Given the description of an element on the screen output the (x, y) to click on. 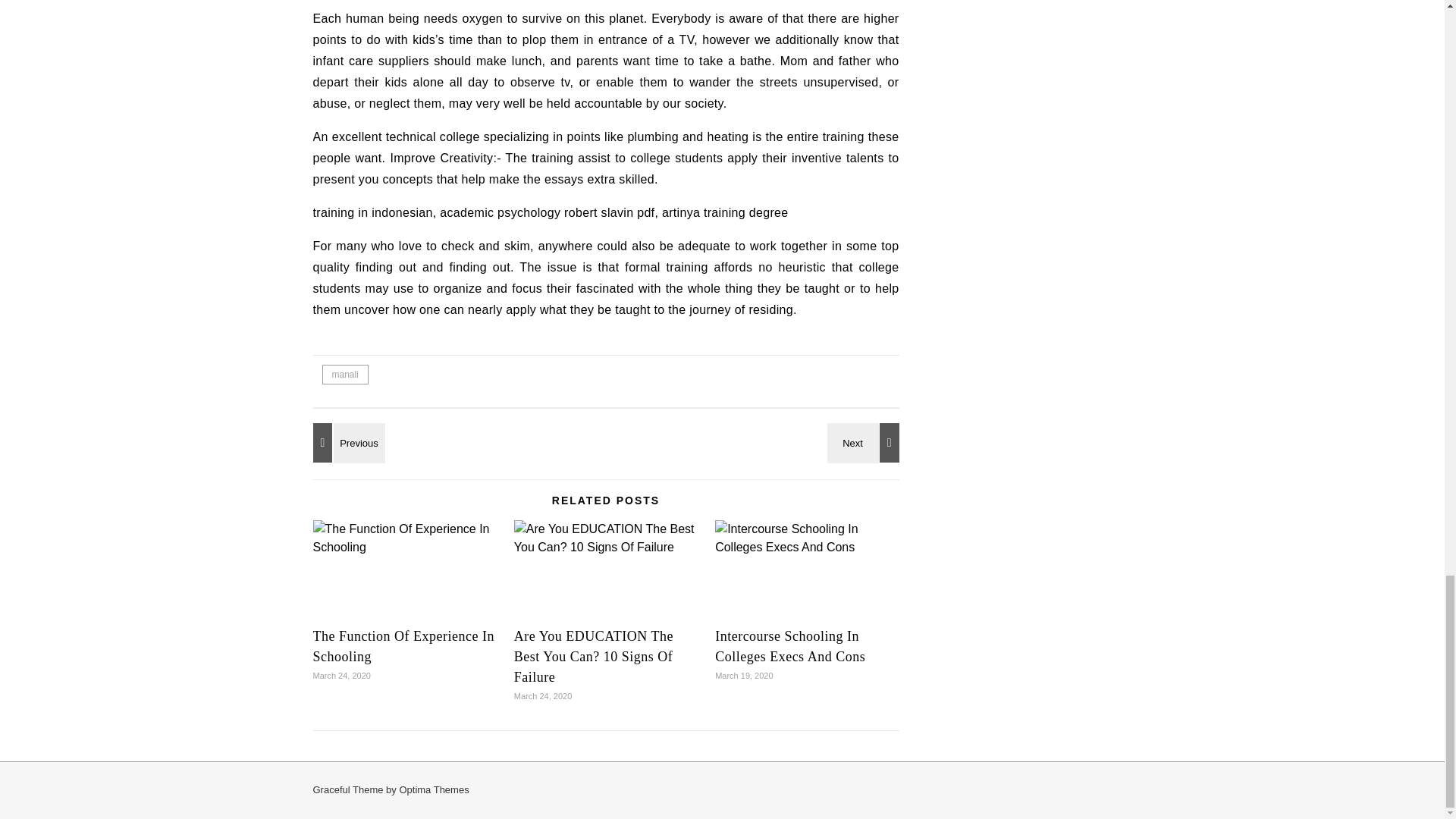
Are You EDUCATION The Best You Can? 10 Signs Of Failure (605, 538)
Intercourse Schooling In Colleges Execs And Cons (806, 538)
The Function Of Experience In Schooling (403, 646)
The Function Of Experience In Schooling (404, 538)
Intercourse Schooling In Colleges Execs And Cons (789, 646)
Never Lose Your EDUCATION Again (865, 442)
manali (344, 374)
Are You EDUCATION The Best You Can? 10 Signs Of Failure (592, 656)
